Given the description of an element on the screen output the (x, y) to click on. 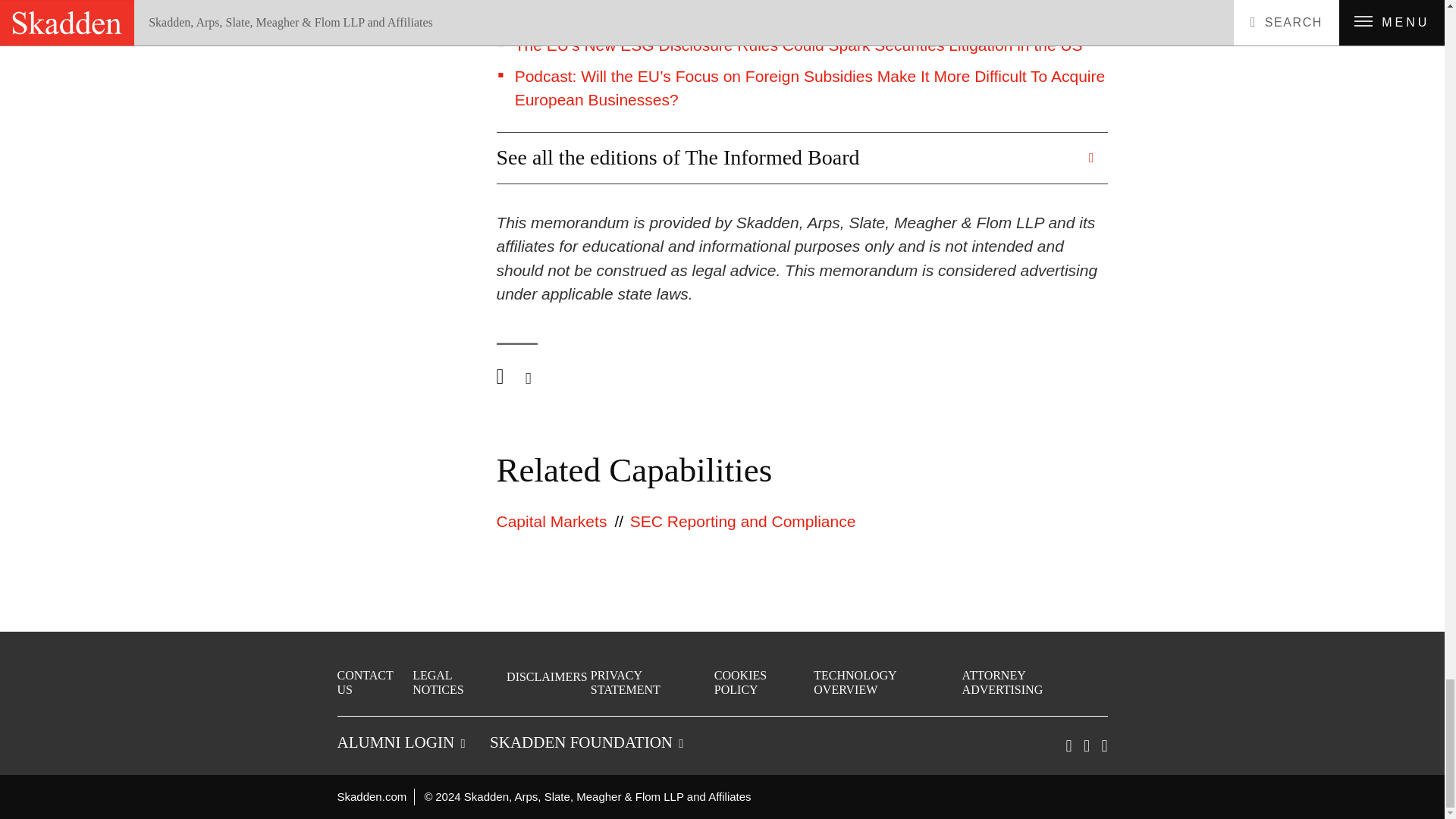
LEGAL NOTICES (457, 682)
DISCLAIMERS (547, 676)
COOKIES POLICY (762, 682)
CONTACT US (372, 682)
ALUMNI LOGIN (400, 742)
SKADDEN FOUNDATION (585, 742)
Navigate to Skadden Foundation section (585, 742)
ATTORNEY ADVERTISING (1033, 682)
TECHNOLOGY OVERVIEW (885, 682)
SEC Reporting and Compliance (743, 521)
